Given the description of an element on the screen output the (x, y) to click on. 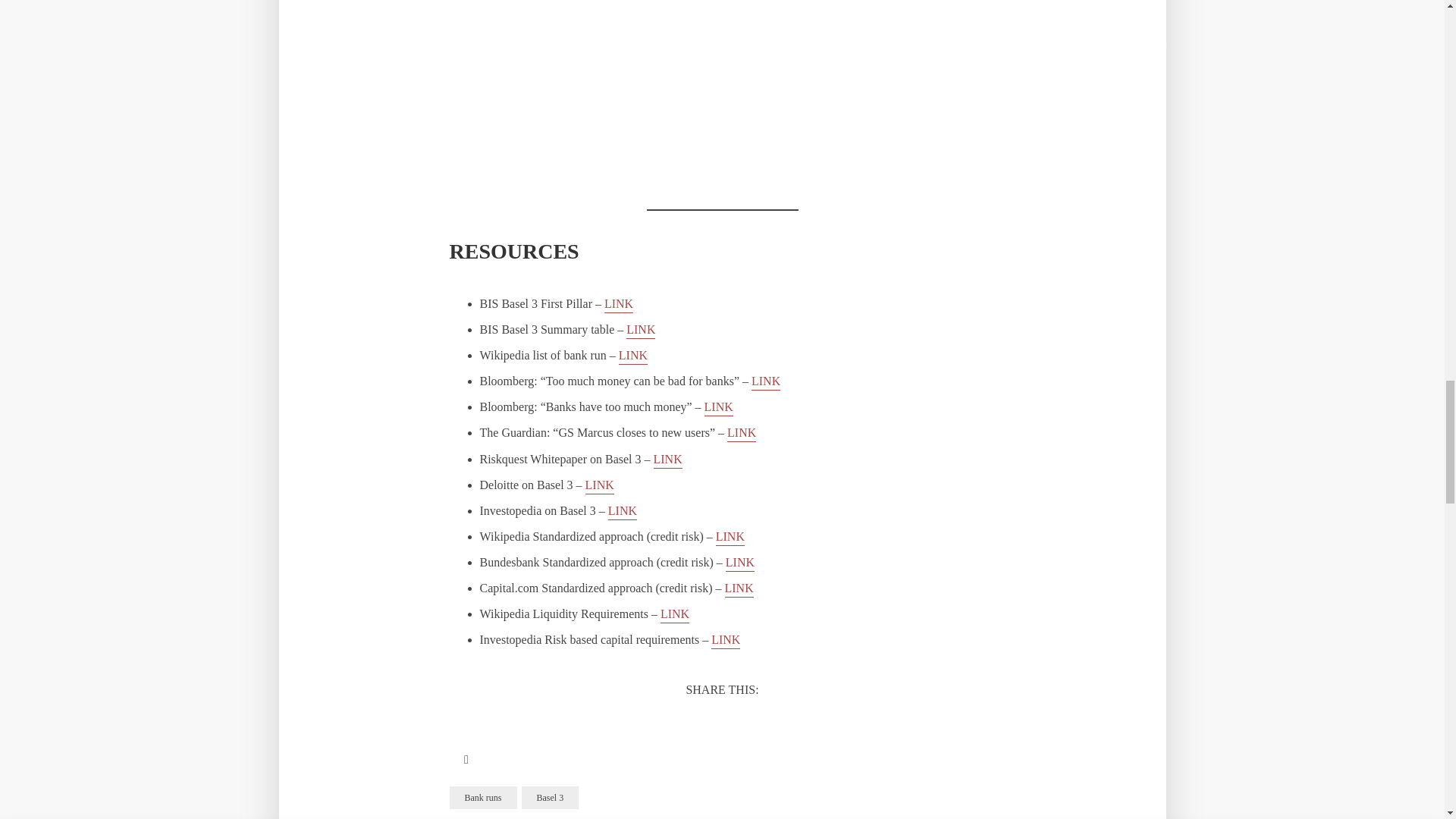
LINK (725, 641)
Basel 3 (550, 797)
LINK (730, 537)
LINK (622, 512)
LINK (632, 356)
LINK (739, 589)
LINK (674, 615)
LINK (640, 330)
LINK (765, 382)
LINK (739, 563)
